Given the description of an element on the screen output the (x, y) to click on. 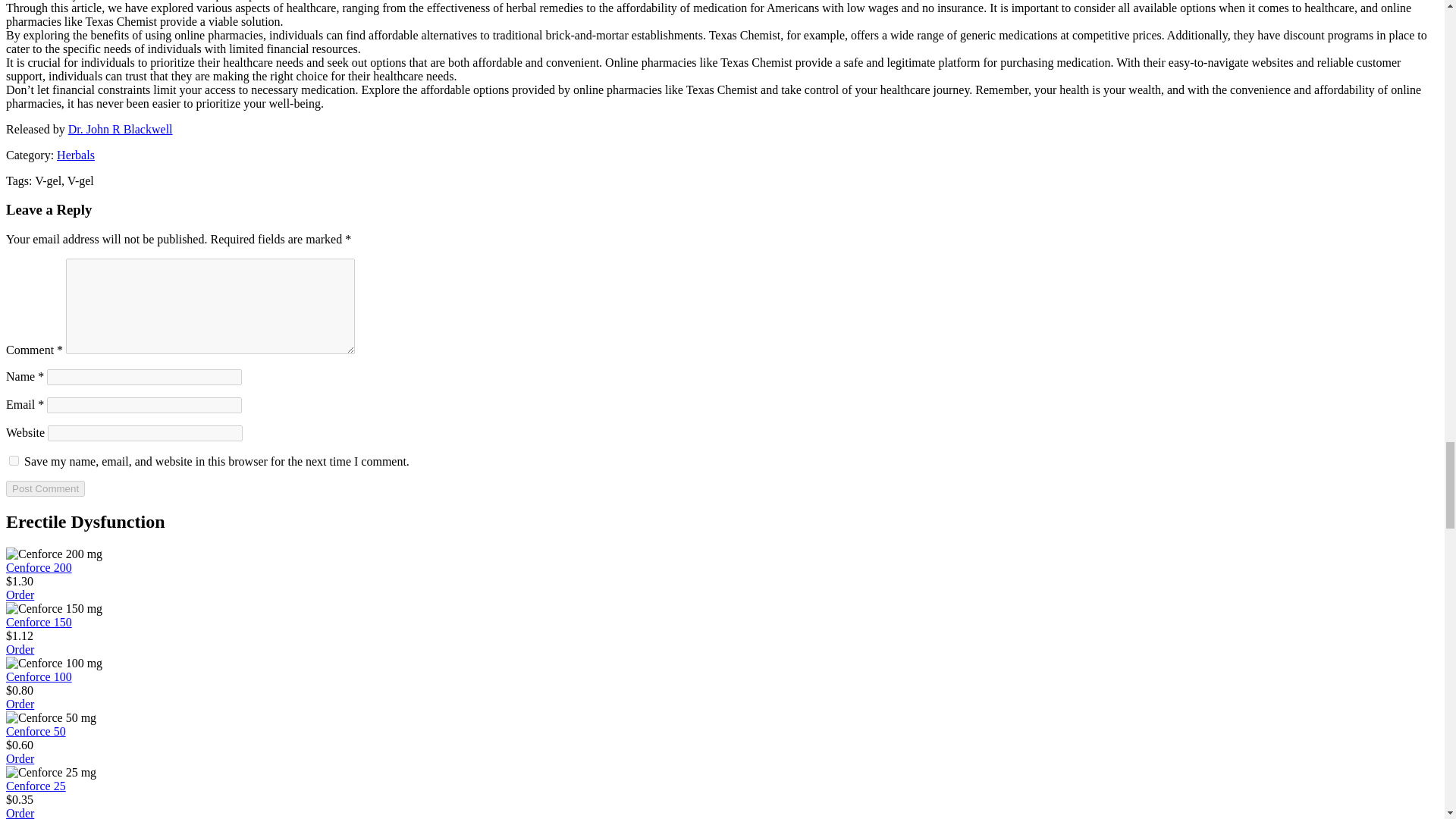
Herbals (75, 154)
Dr. John R Blackwell (120, 128)
Posts by Dr. John R Blackwell (120, 128)
yes (13, 460)
Post Comment (44, 488)
